Given the description of an element on the screen output the (x, y) to click on. 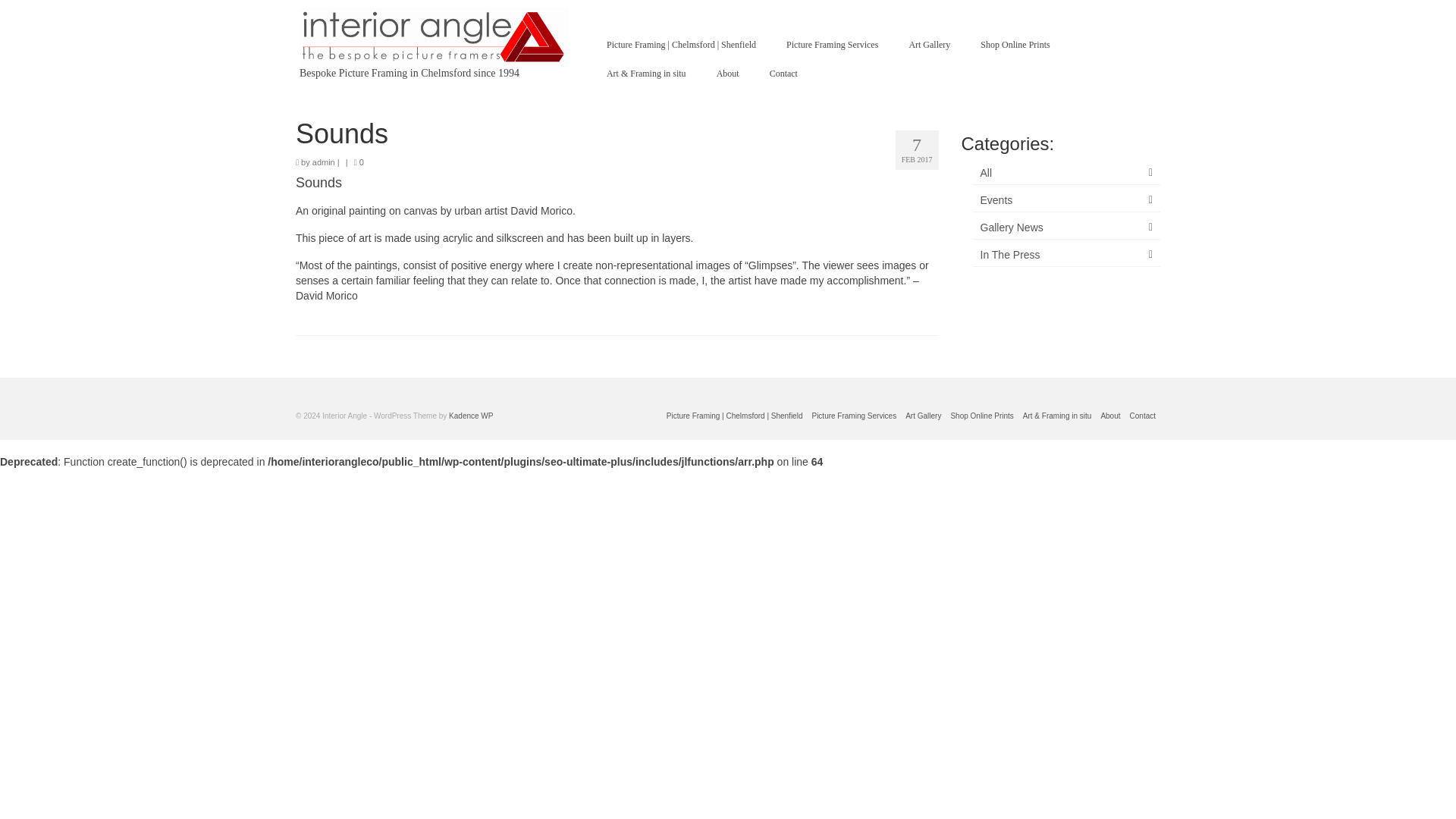
Shop Online Prints (1014, 44)
All (1066, 173)
Picture Framing Services (853, 416)
Contact (1142, 416)
Contact (783, 72)
Events (1066, 200)
Kadence WP (470, 415)
admin (323, 162)
Gallery News (1066, 227)
In The Press (1066, 254)
